Given the description of an element on the screen output the (x, y) to click on. 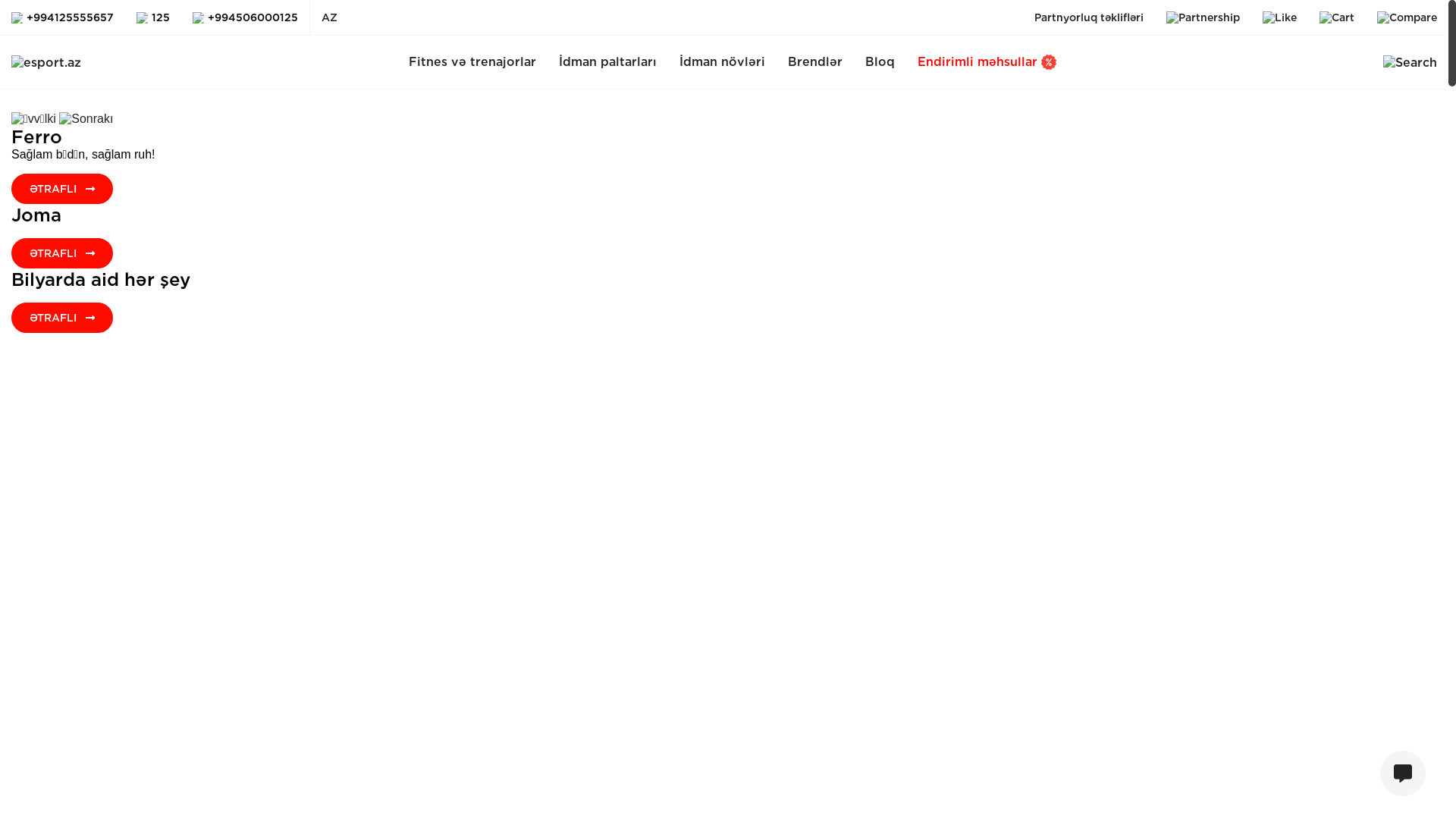
Bloq Element type: text (879, 61)
AZ Element type: text (329, 17)
